Given the description of an element on the screen output the (x, y) to click on. 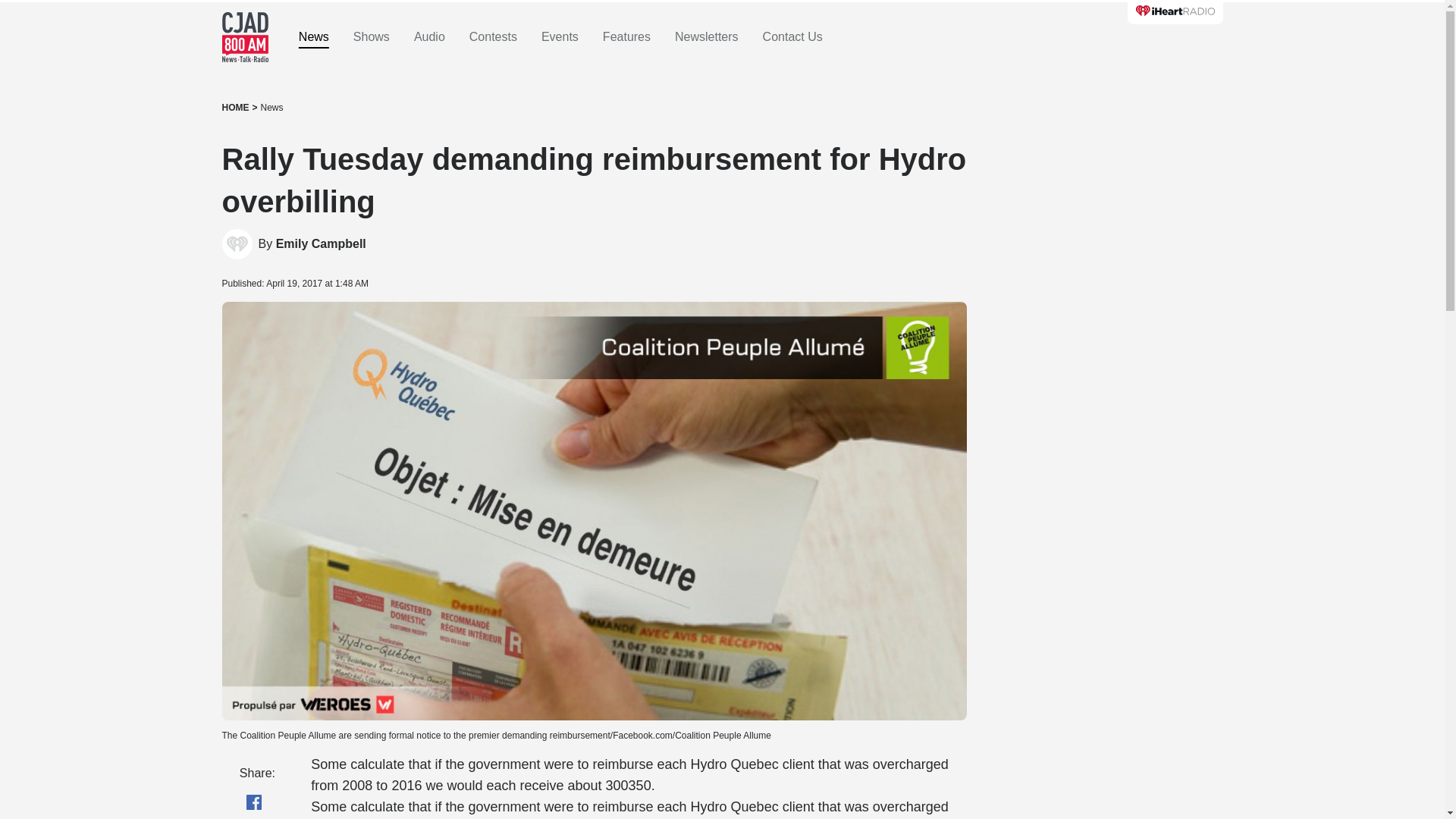
HOME (234, 107)
Newsletters (706, 37)
Contests (492, 37)
Features (626, 37)
Emily Campbell (321, 243)
Emily Campbell (236, 244)
News (271, 107)
Emily Campbell (321, 243)
Contact Us (792, 37)
